Given the description of an element on the screen output the (x, y) to click on. 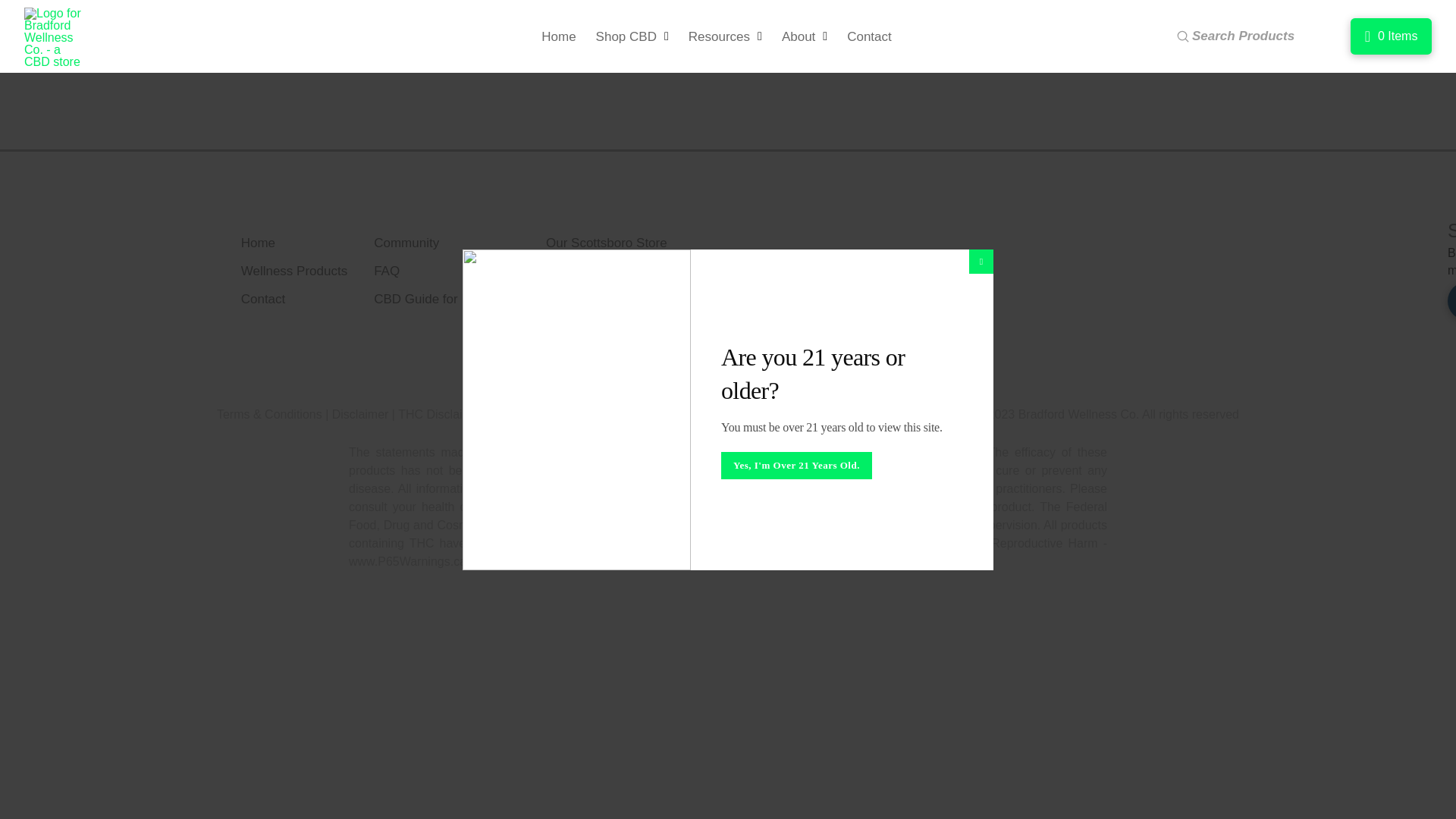
Submit (469, 40)
